Given the description of an element on the screen output the (x, y) to click on. 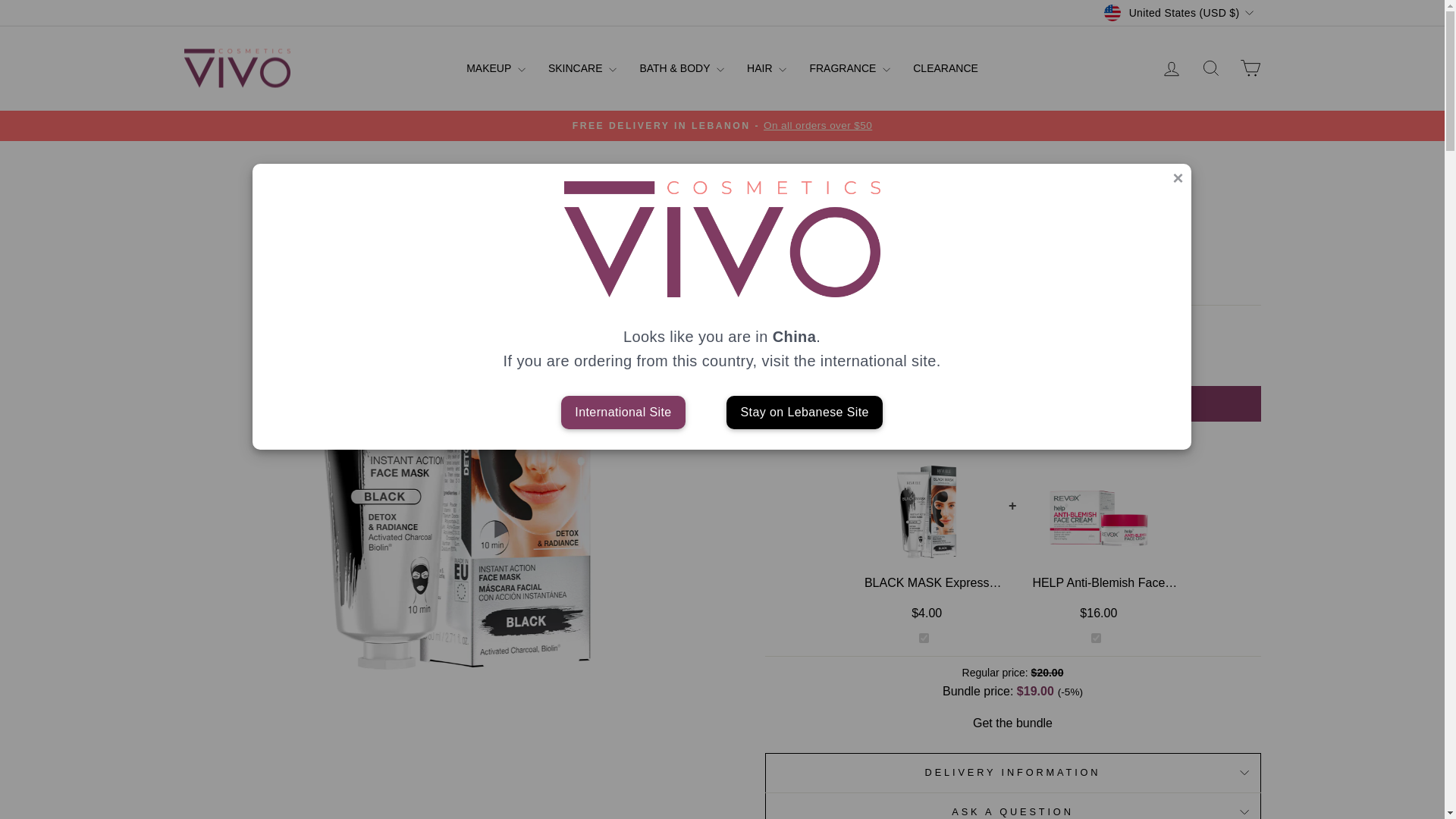
on (923, 637)
ICON-SEARCH (1210, 67)
on (1095, 637)
ACCOUNT (1170, 68)
